Given the description of an element on the screen output the (x, y) to click on. 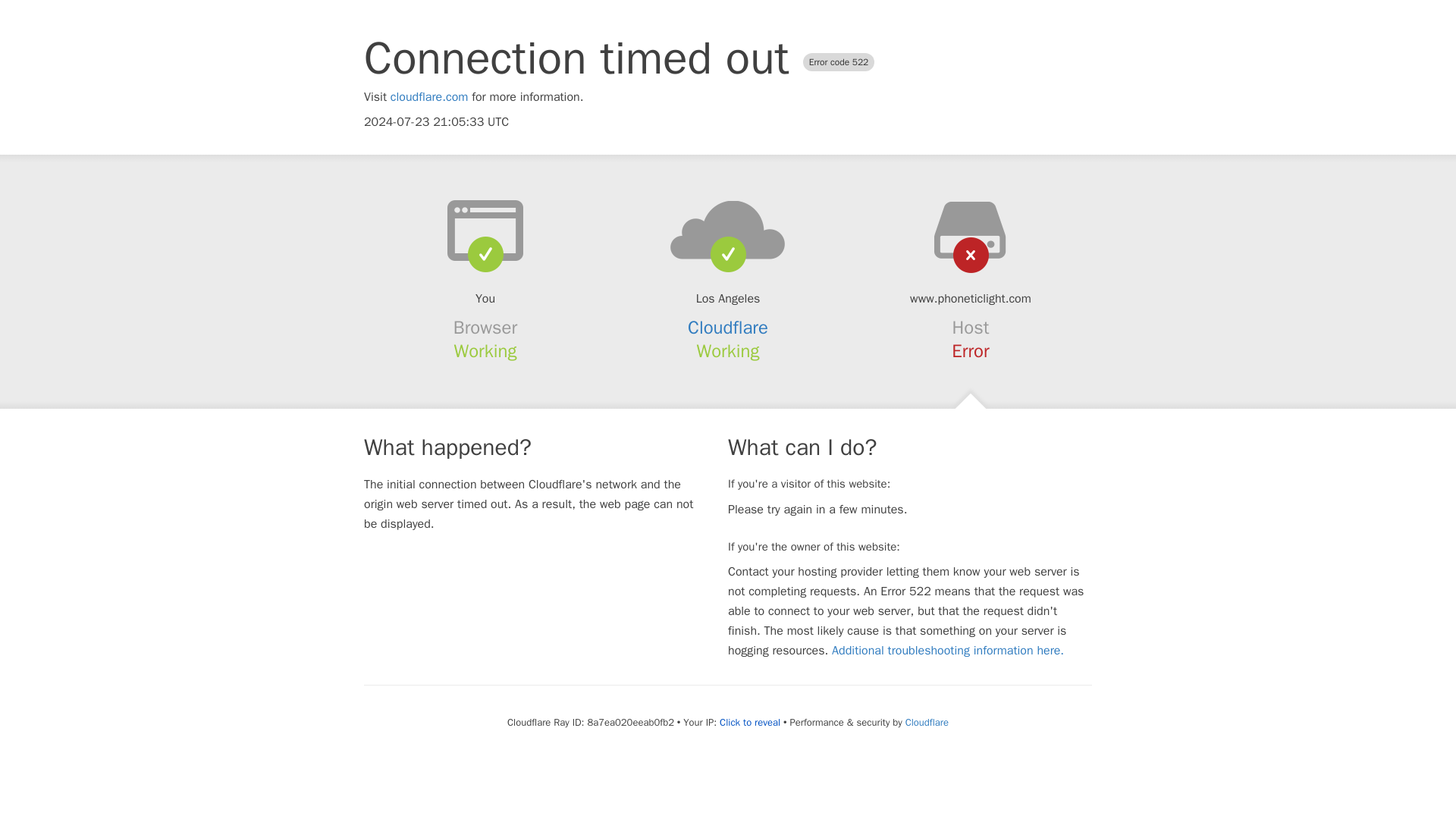
cloudflare.com (429, 96)
Cloudflare (927, 721)
Click to reveal (749, 722)
Additional troubleshooting information here. (947, 650)
Cloudflare (727, 327)
